Given the description of an element on the screen output the (x, y) to click on. 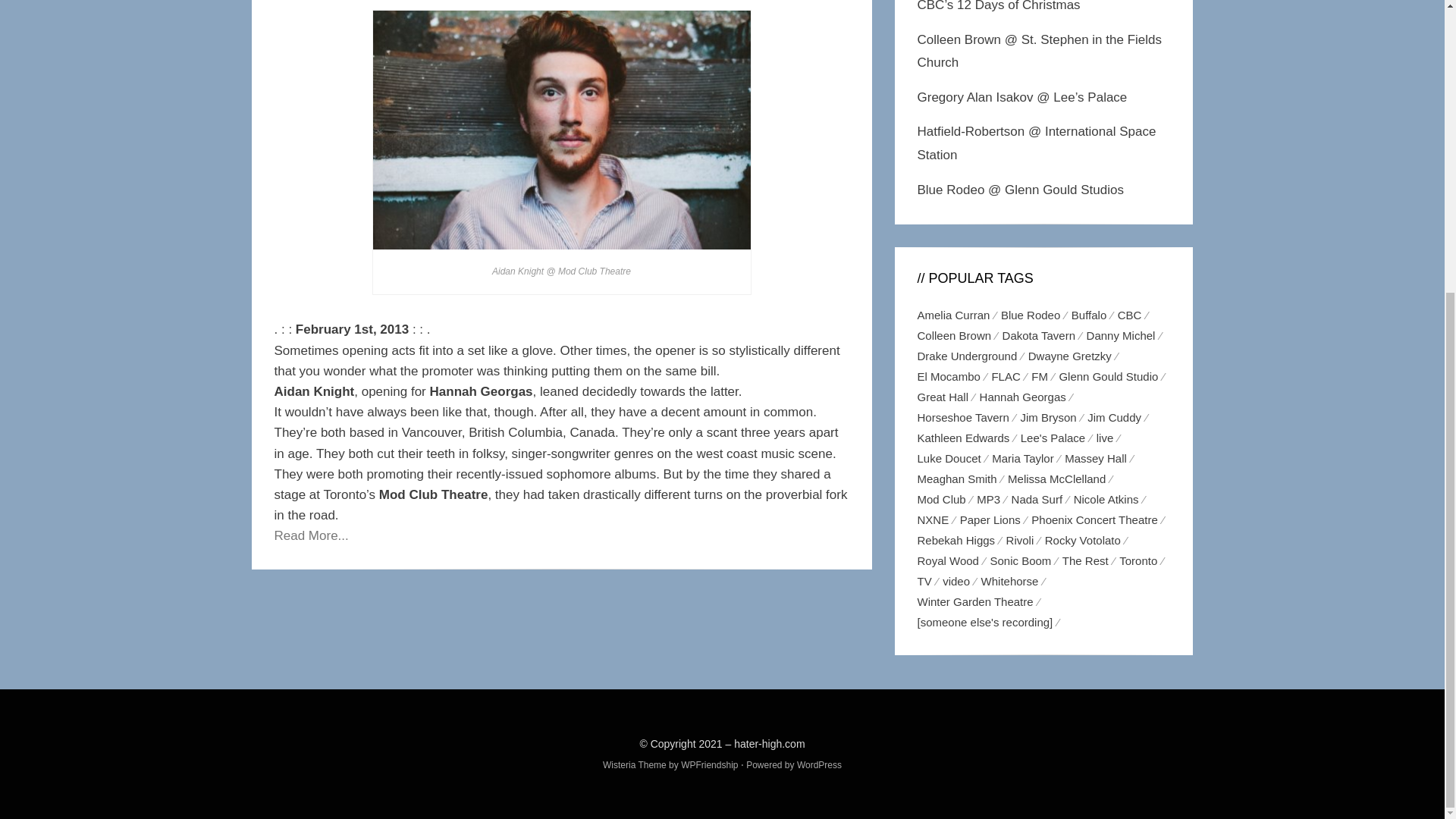
Amelia Curran (959, 314)
Lee's Palace (1058, 437)
Kathleen Edwards (968, 437)
Jim Cuddy (1119, 417)
FM (1044, 376)
Drake Underground (972, 355)
Read More... (312, 535)
WordPress (818, 765)
Jim Bryson (1053, 417)
FLAC (1010, 376)
